Given the description of an element on the screen output the (x, y) to click on. 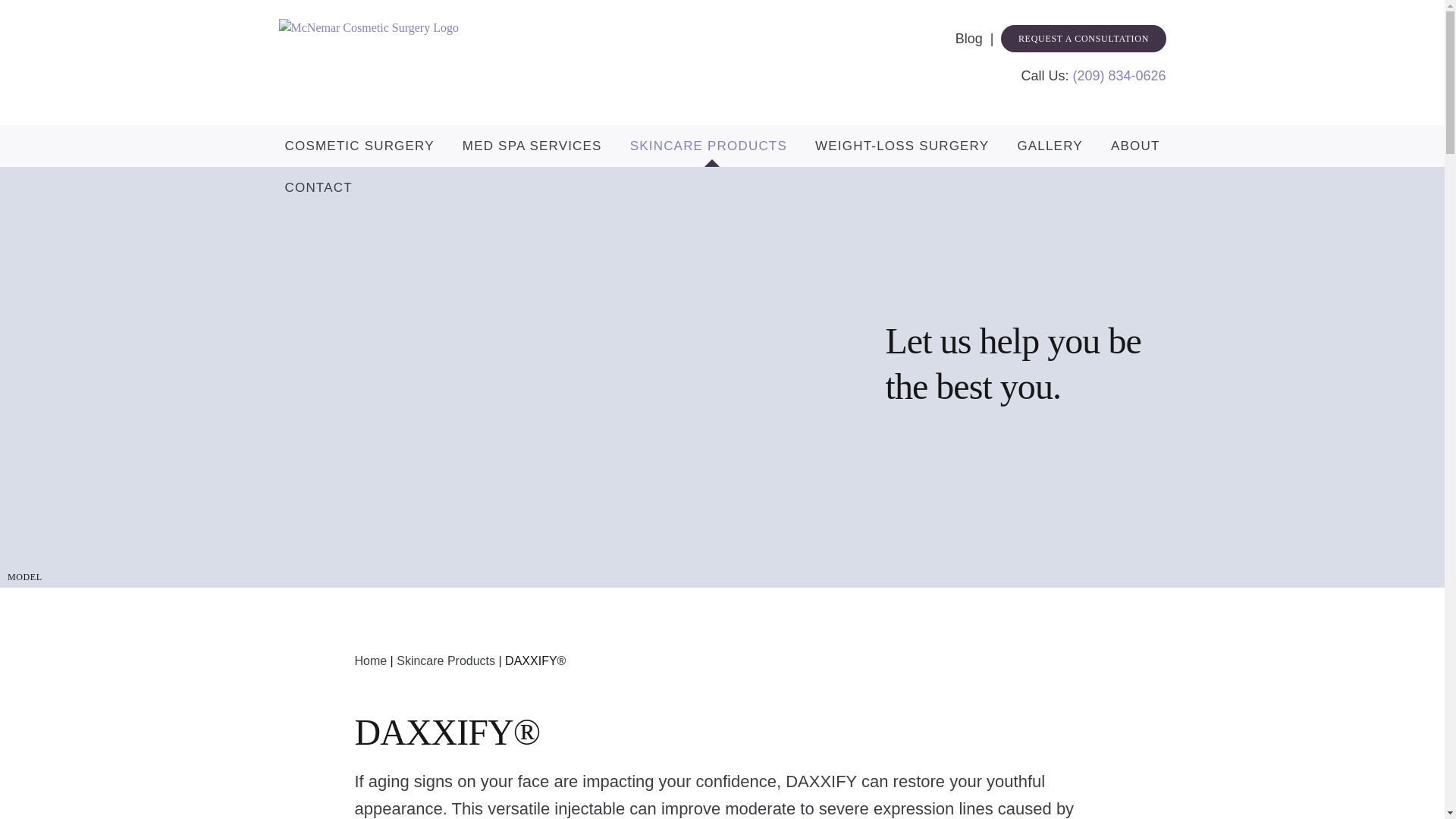
SKINCARE PRODUCTS (708, 146)
MED SPA SERVICES (532, 146)
Blog (978, 38)
COSMETIC SURGERY (360, 146)
Go to McNemar Cosmetic Surgery. (370, 660)
REQUEST A CONSULTATION (1083, 38)
Go to Skincare Products. (445, 660)
